Given the description of an element on the screen output the (x, y) to click on. 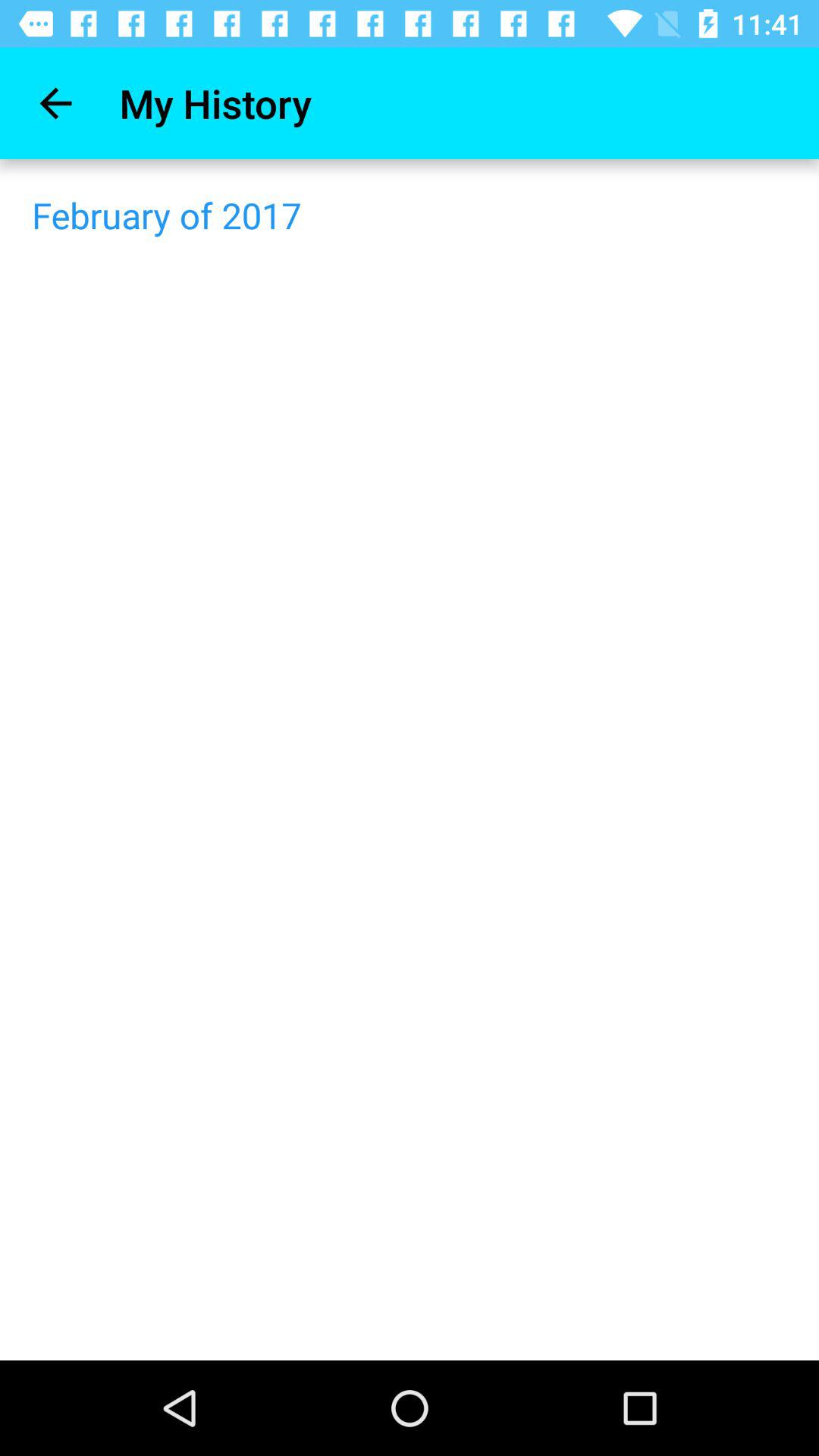
open item next to the my history icon (55, 103)
